Given the description of an element on the screen output the (x, y) to click on. 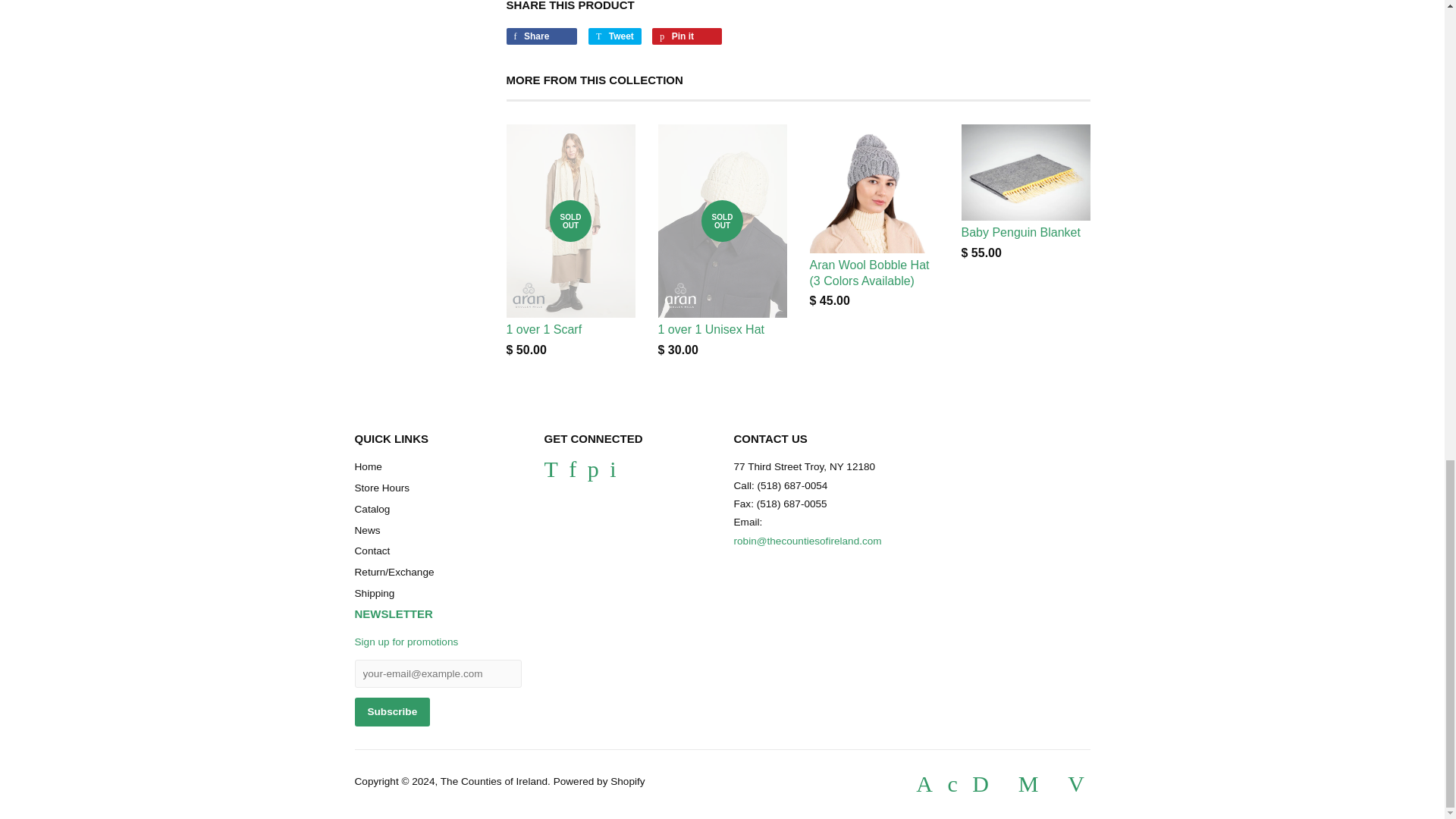
The Counties of Ireland on Pinterest (593, 473)
Subscribe (392, 711)
The Counties of Ireland on Twitter (550, 473)
